Given the description of an element on the screen output the (x, y) to click on. 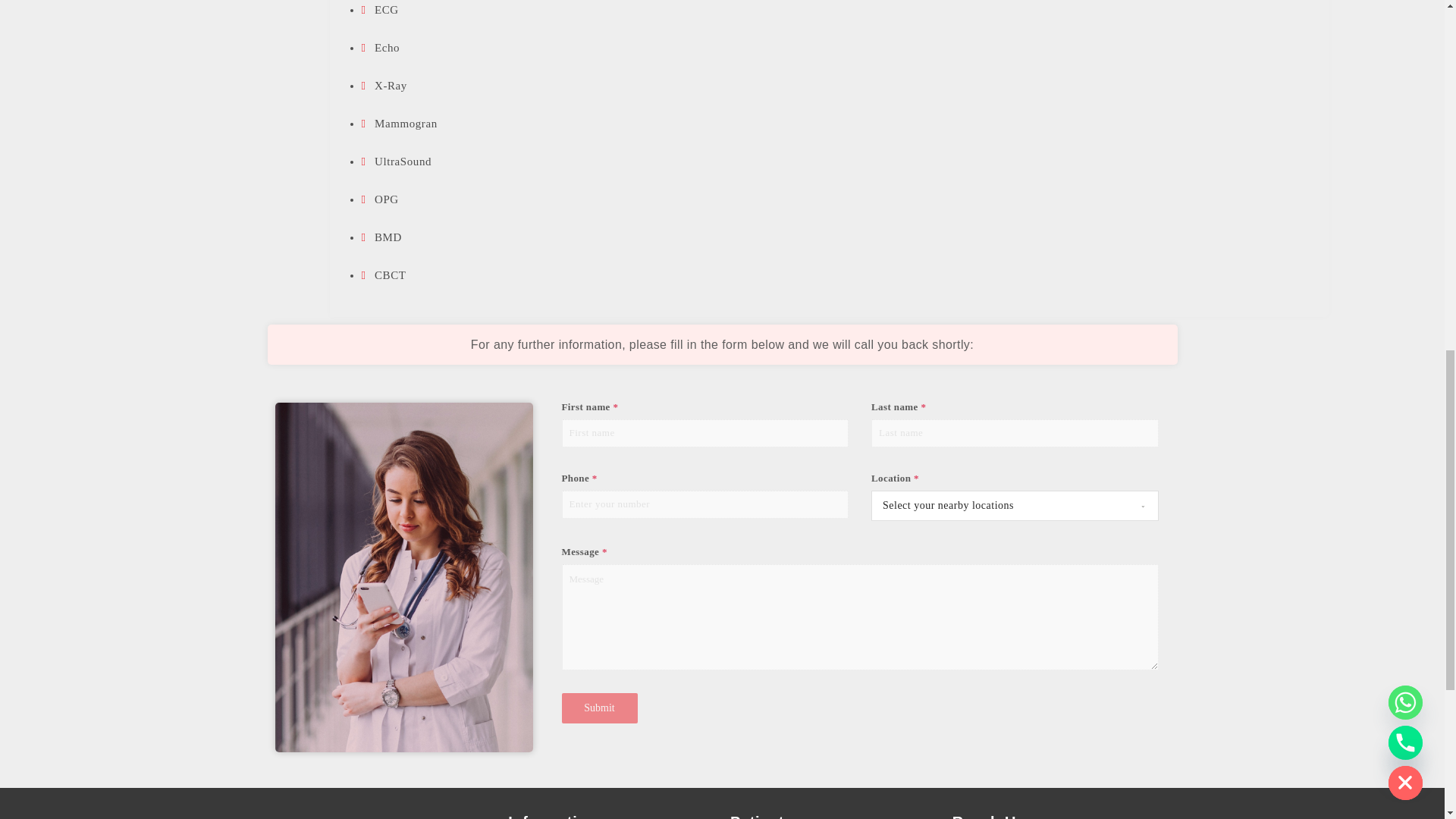
Select your nearby locations (1000, 505)
